Given the description of an element on the screen output the (x, y) to click on. 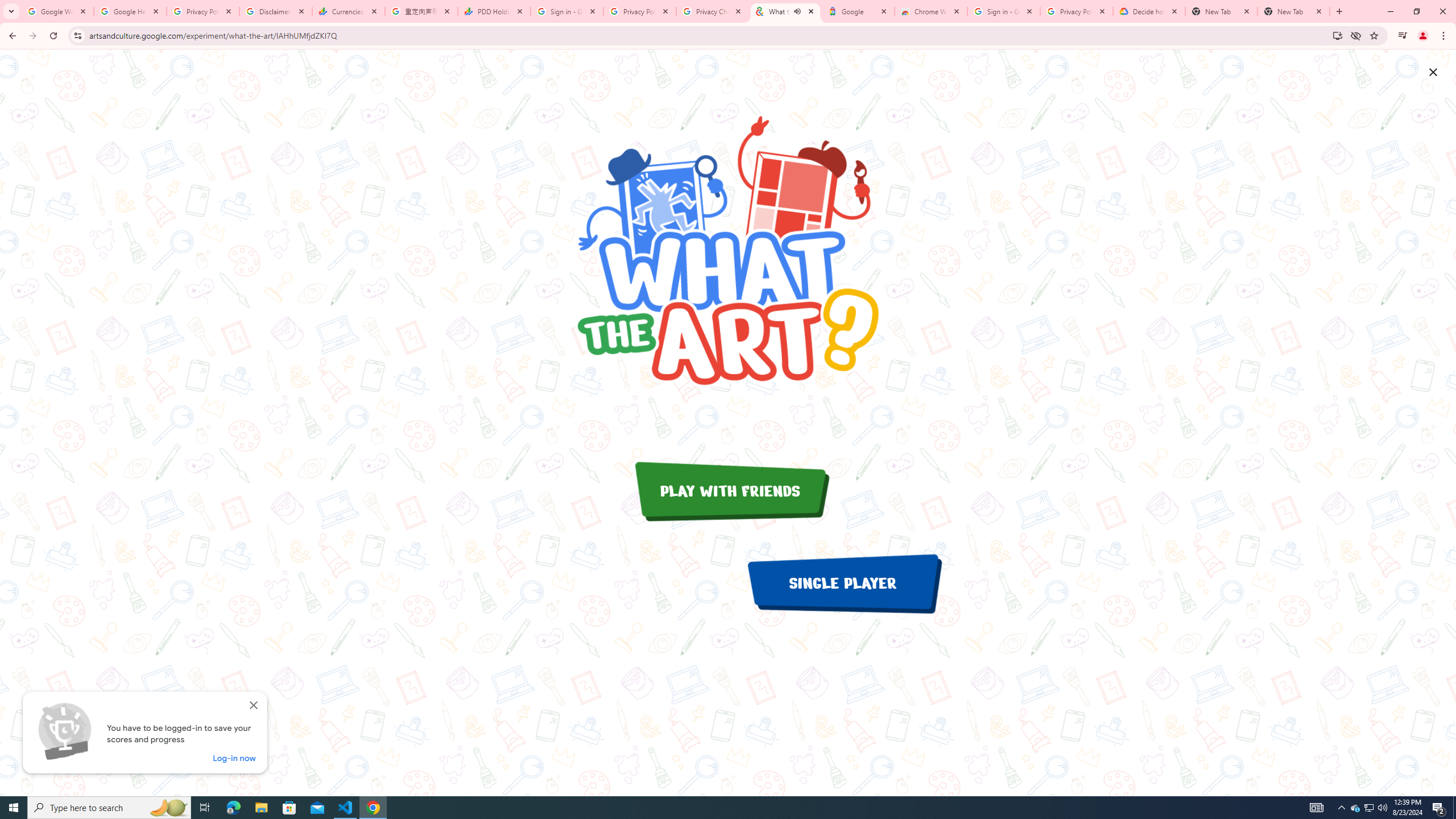
Install Google Arts & Culture (1336, 35)
New Tab (1293, 11)
Quit Game (1433, 71)
PDD Holdings Inc - ADR (PDD) Price & News - Google Finance (493, 11)
